Given the description of an element on the screen output the (x, y) to click on. 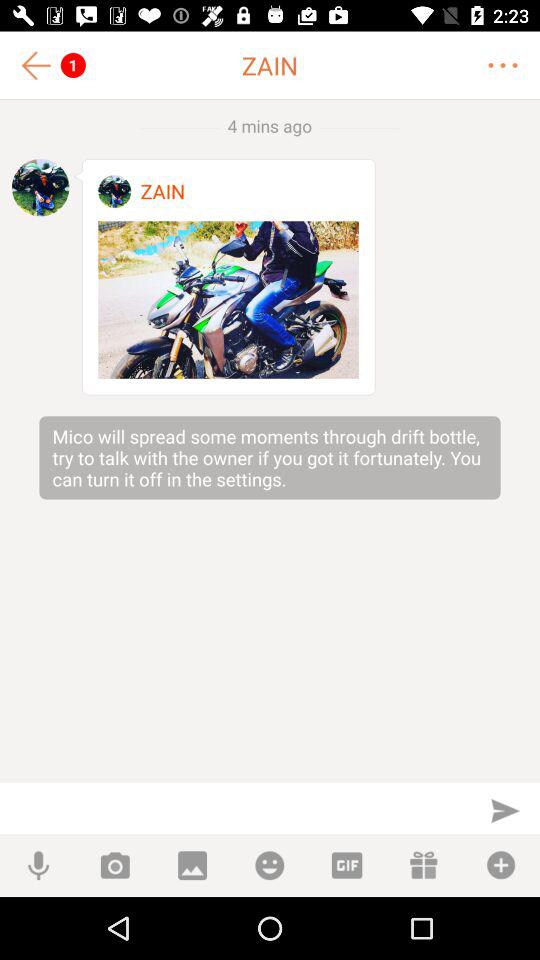
view photo (228, 299)
